Given the description of an element on the screen output the (x, y) to click on. 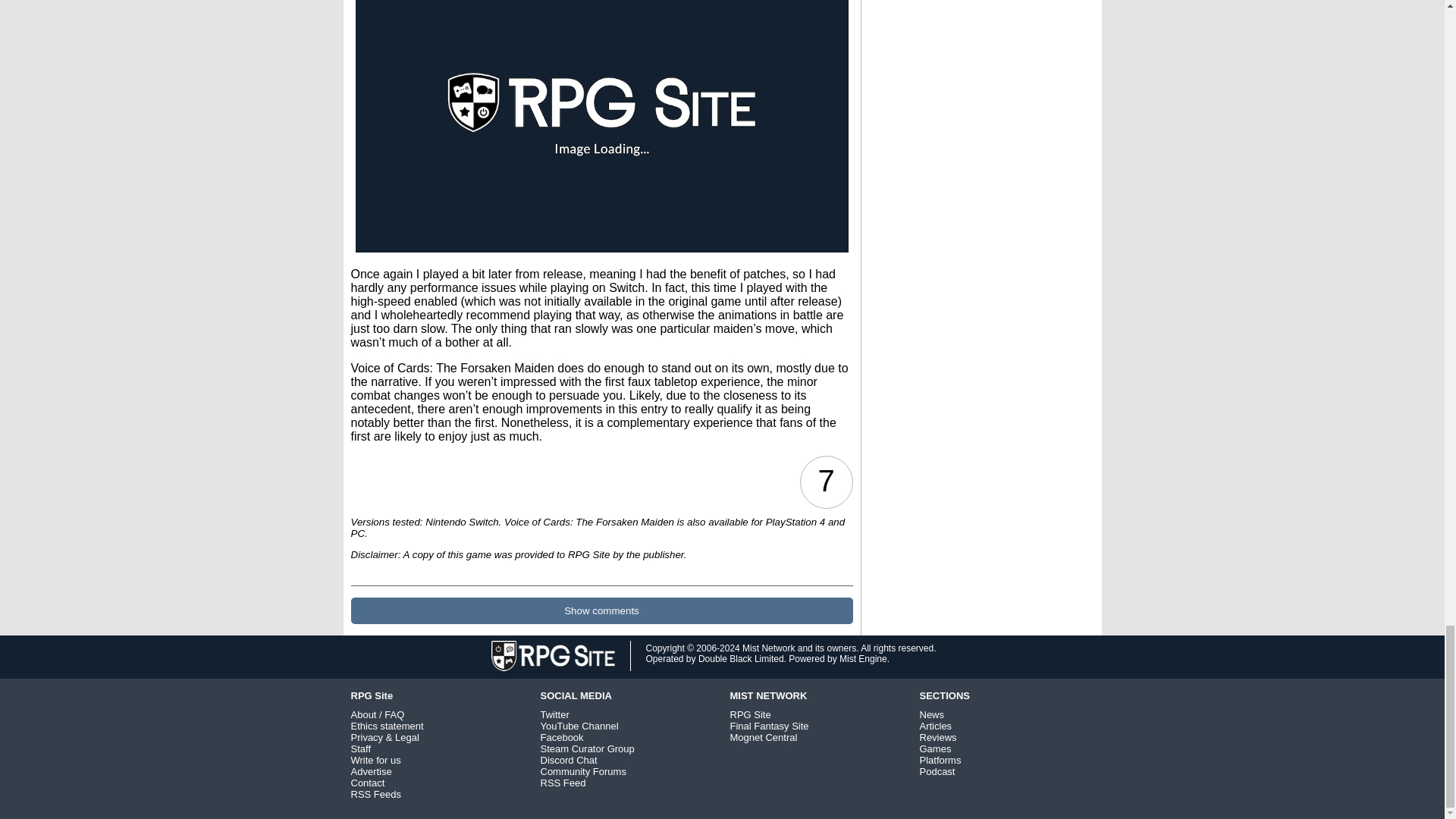
Contact (367, 782)
Twitter (554, 714)
RSS Feeds (375, 794)
Write for us (375, 759)
Show comments (600, 610)
Staff (360, 748)
Advertise (370, 771)
Ethics statement (386, 726)
